Given the description of an element on the screen output the (x, y) to click on. 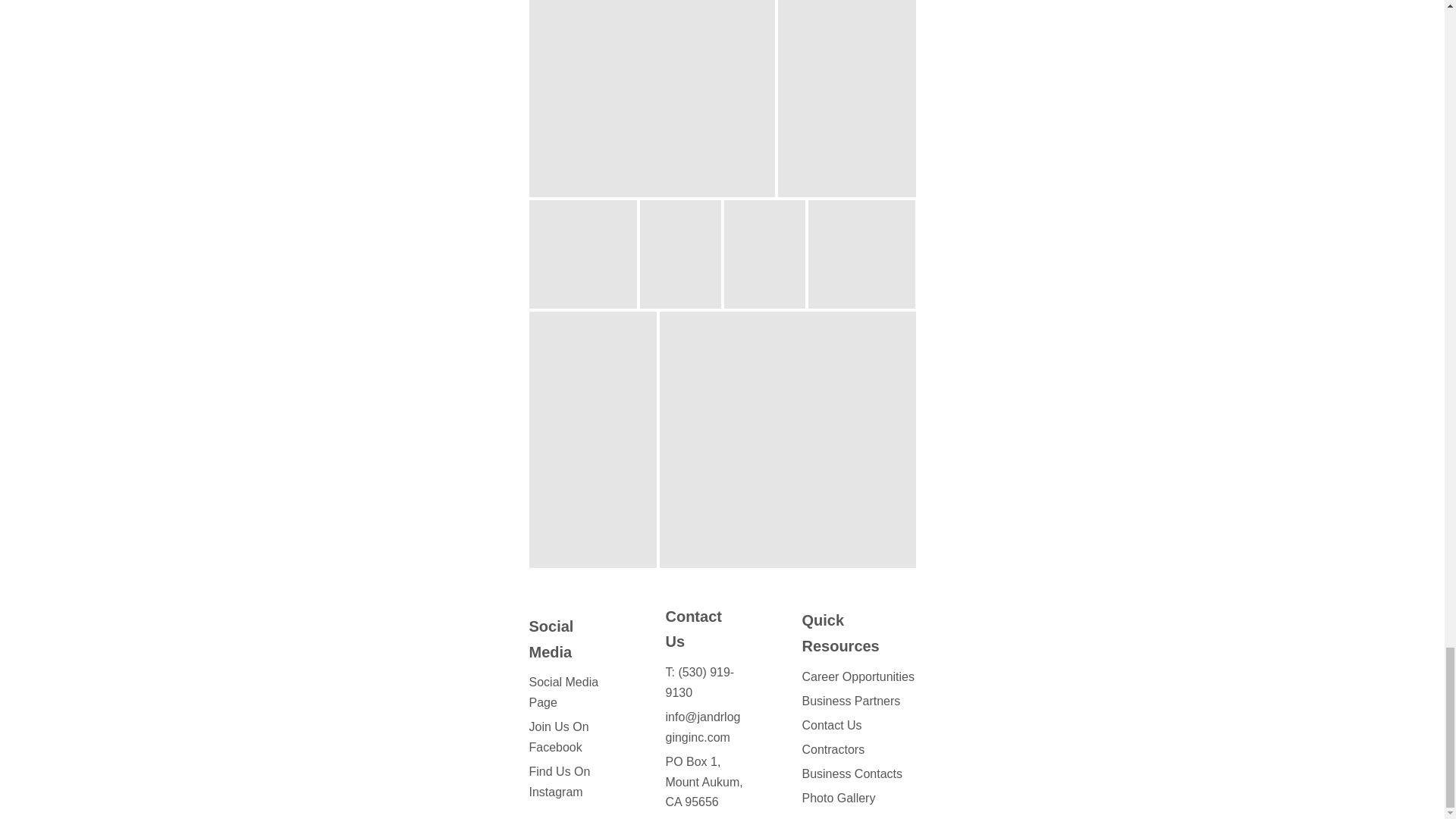
Business Partners (850, 700)
Business Contacts (852, 773)
Photo Gallery (838, 797)
Contractors (833, 748)
Social Media Page (563, 692)
Find Us On Instagram (560, 781)
Career Opportunities (858, 676)
Join Us On Facebook (559, 736)
PO Box 1, Mount Aukum, CA 95656 (703, 782)
Contact Us (831, 725)
